Given the description of an element on the screen output the (x, y) to click on. 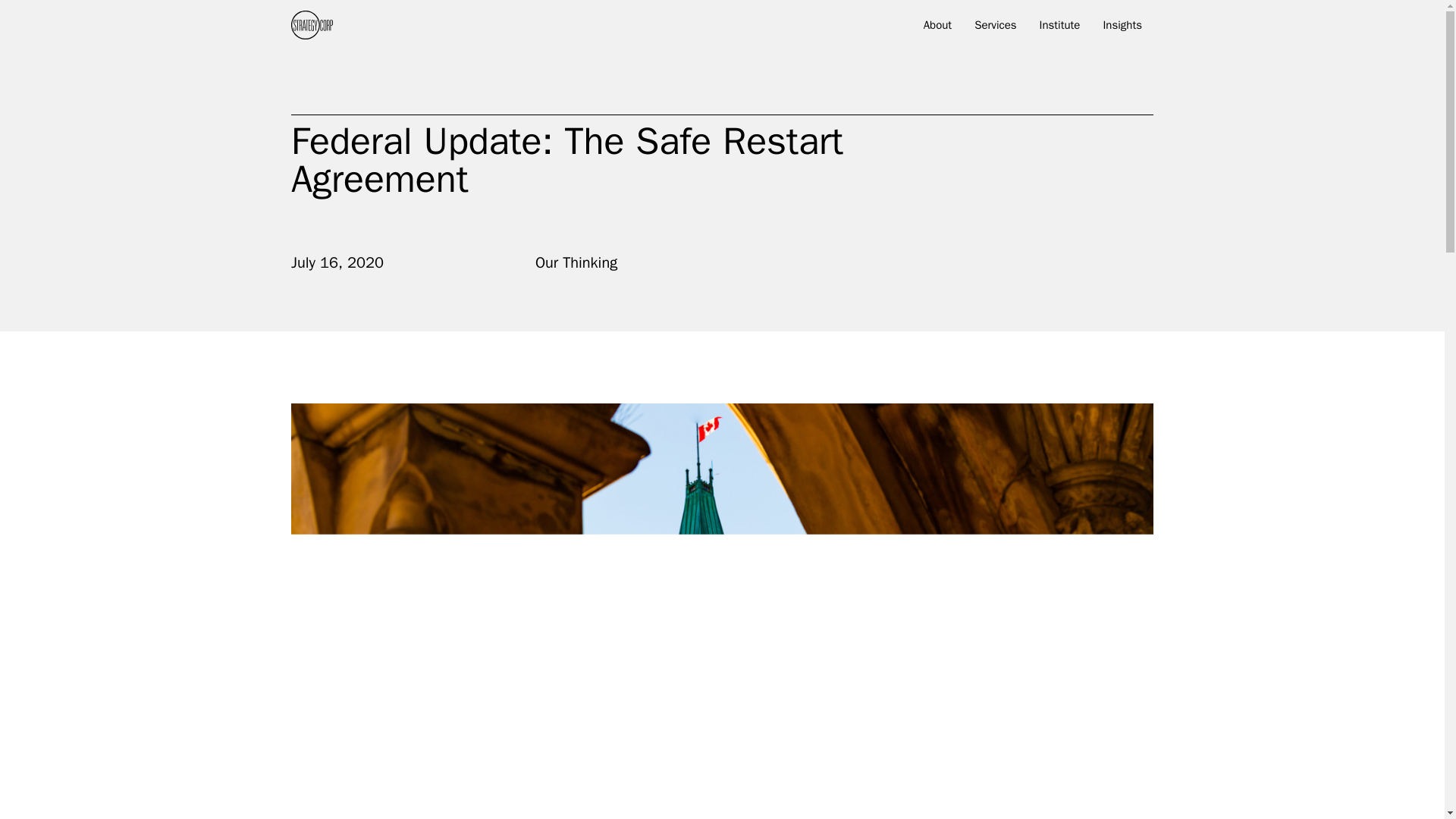
Insights (1121, 28)
Services (994, 28)
Institute (1059, 28)
Our Thinking (576, 262)
About (937, 28)
